Given the description of an element on the screen output the (x, y) to click on. 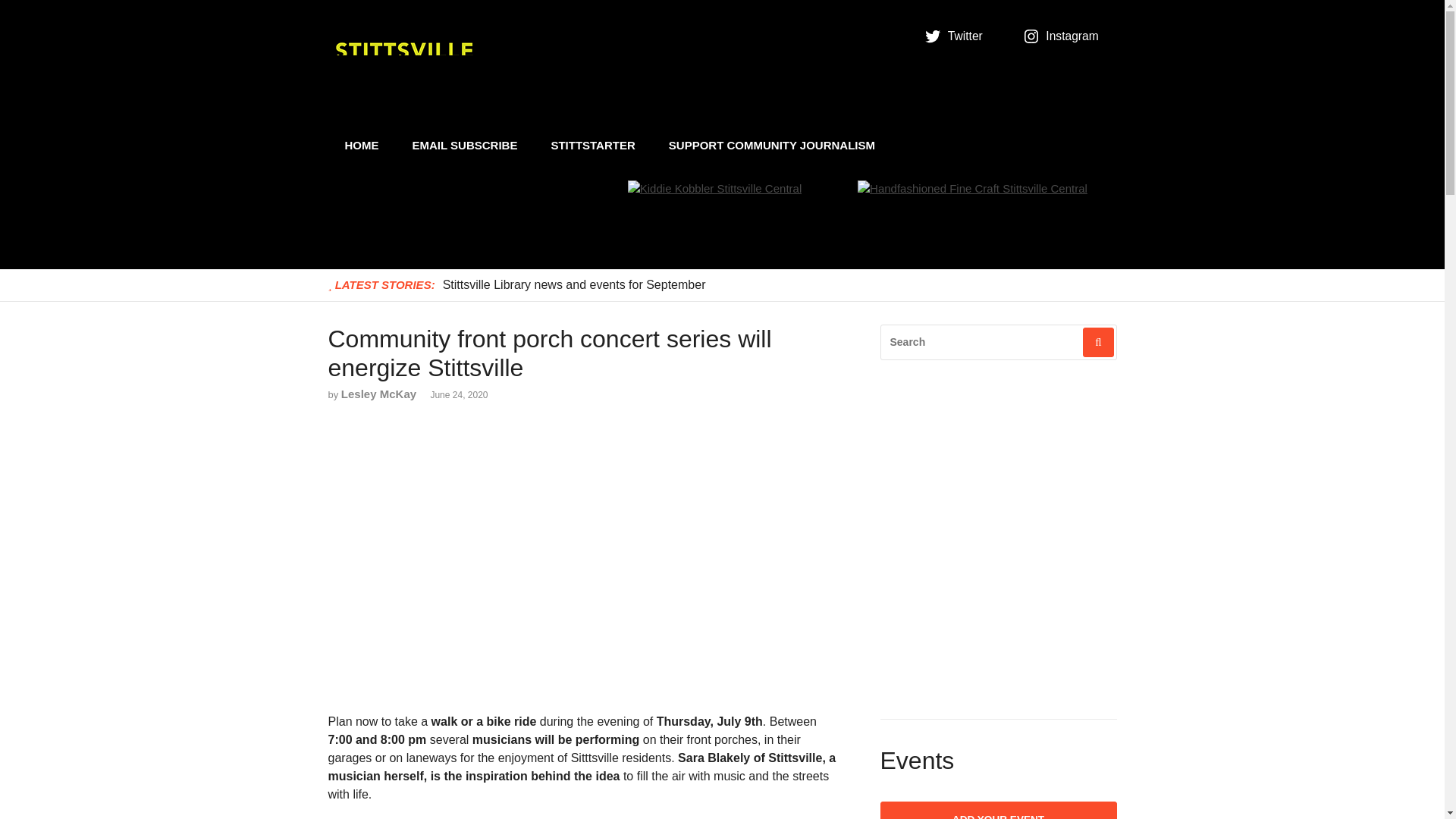
Stittsville Library news and events for September (574, 283)
SUPPORT COMMUNITY JOURNALISM (771, 146)
Stittsville Library news and events for September (574, 283)
Lesley McKay (378, 393)
EMAIL SUBSCRIBE (465, 146)
Twitter (956, 35)
HOME (360, 146)
Instagram (1063, 35)
STITTSTARTER (592, 146)
